Given the description of an element on the screen output the (x, y) to click on. 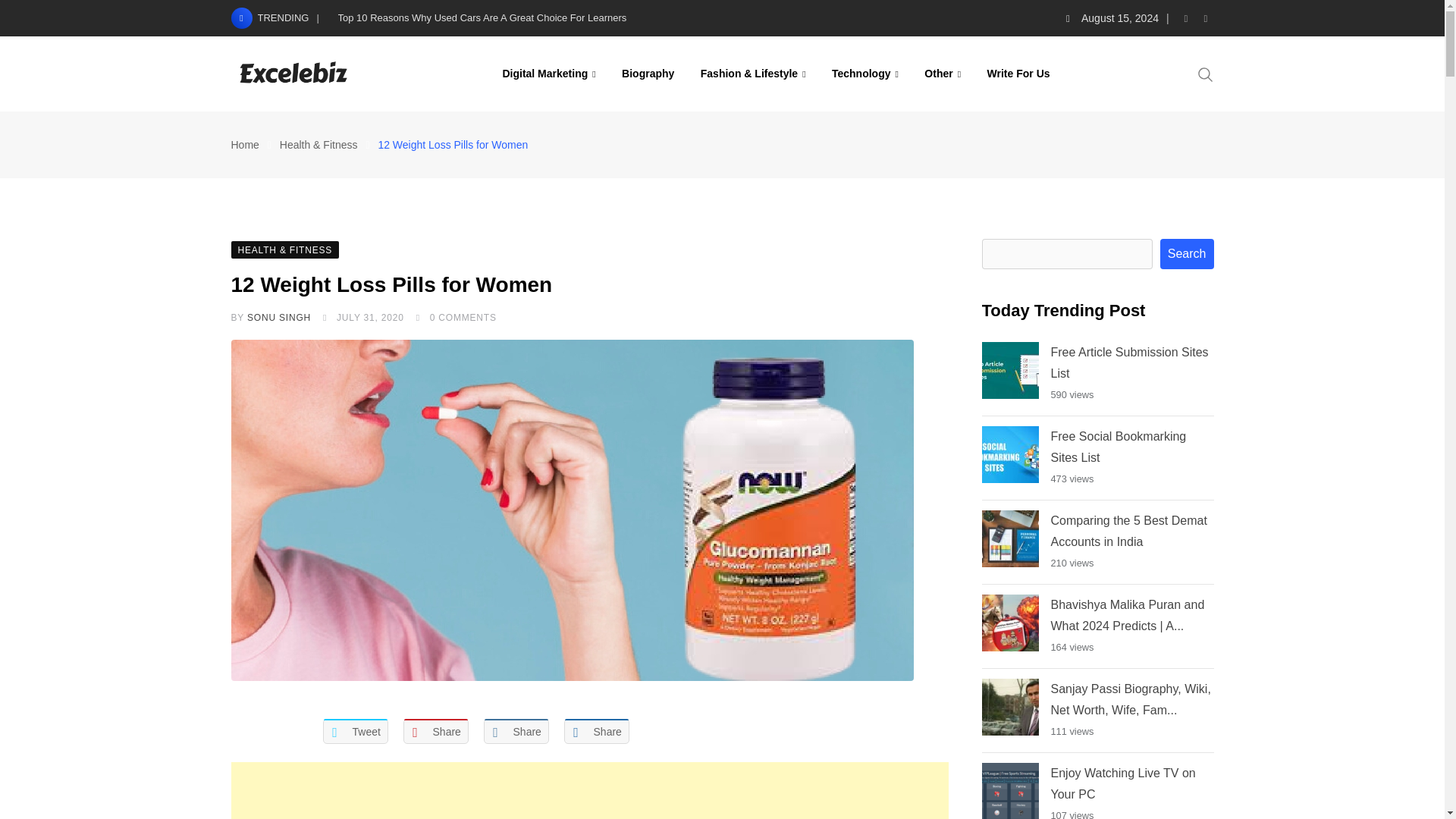
Share on Digg (596, 731)
Share on LinkedIn (515, 731)
Advertisement (588, 790)
Posts by Sonu Singh (279, 317)
Share on Pinterest (435, 731)
Digital Marketing (548, 73)
Top 10 Reasons Why Used Cars Are A Great Choice For Learners (482, 17)
Technology (865, 73)
Share on Twitter (355, 731)
Biography (647, 73)
